Given the description of an element on the screen output the (x, y) to click on. 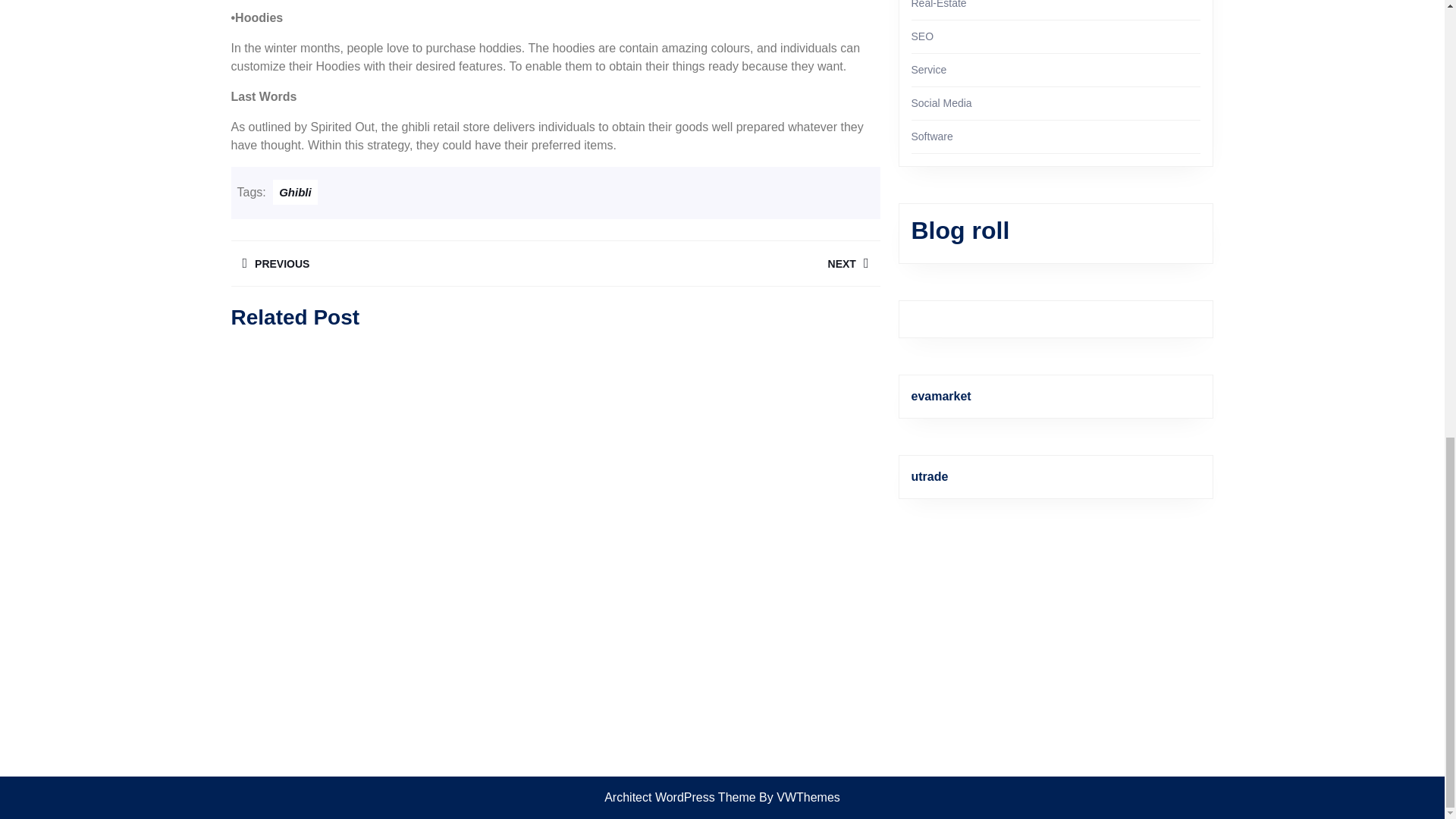
SEO (922, 36)
Ghibli (295, 191)
Real-Estate (938, 4)
